Given the description of an element on the screen output the (x, y) to click on. 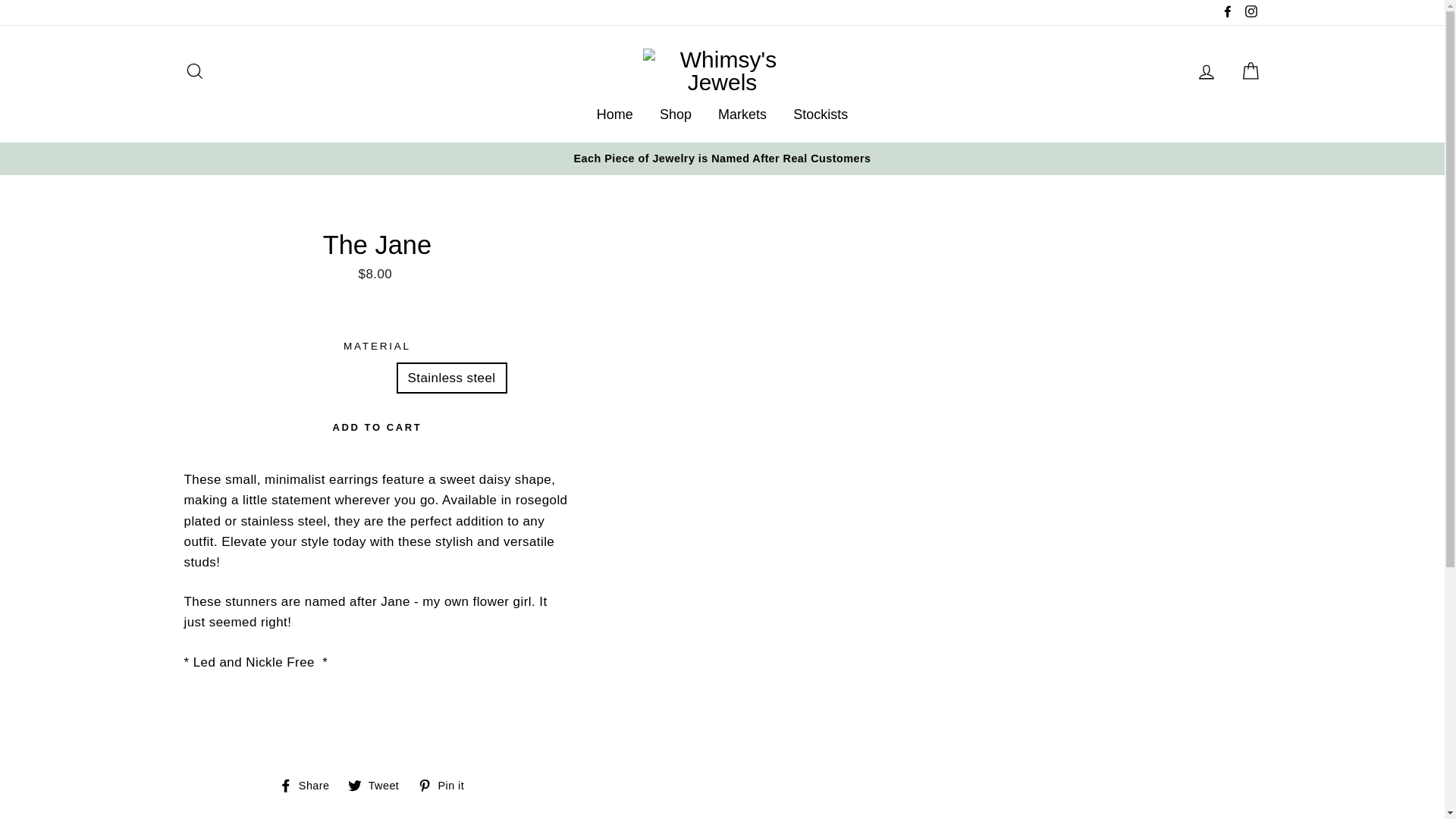
Pin on Pinterest (446, 784)
Cart (446, 784)
Shop (1249, 71)
Stockists (675, 113)
Rosegold Ion Plated (820, 113)
Skip to content (378, 784)
Share on Facebook (615, 113)
ADD TO CART (309, 784)
Markets (309, 784)
